Given the description of an element on the screen output the (x, y) to click on. 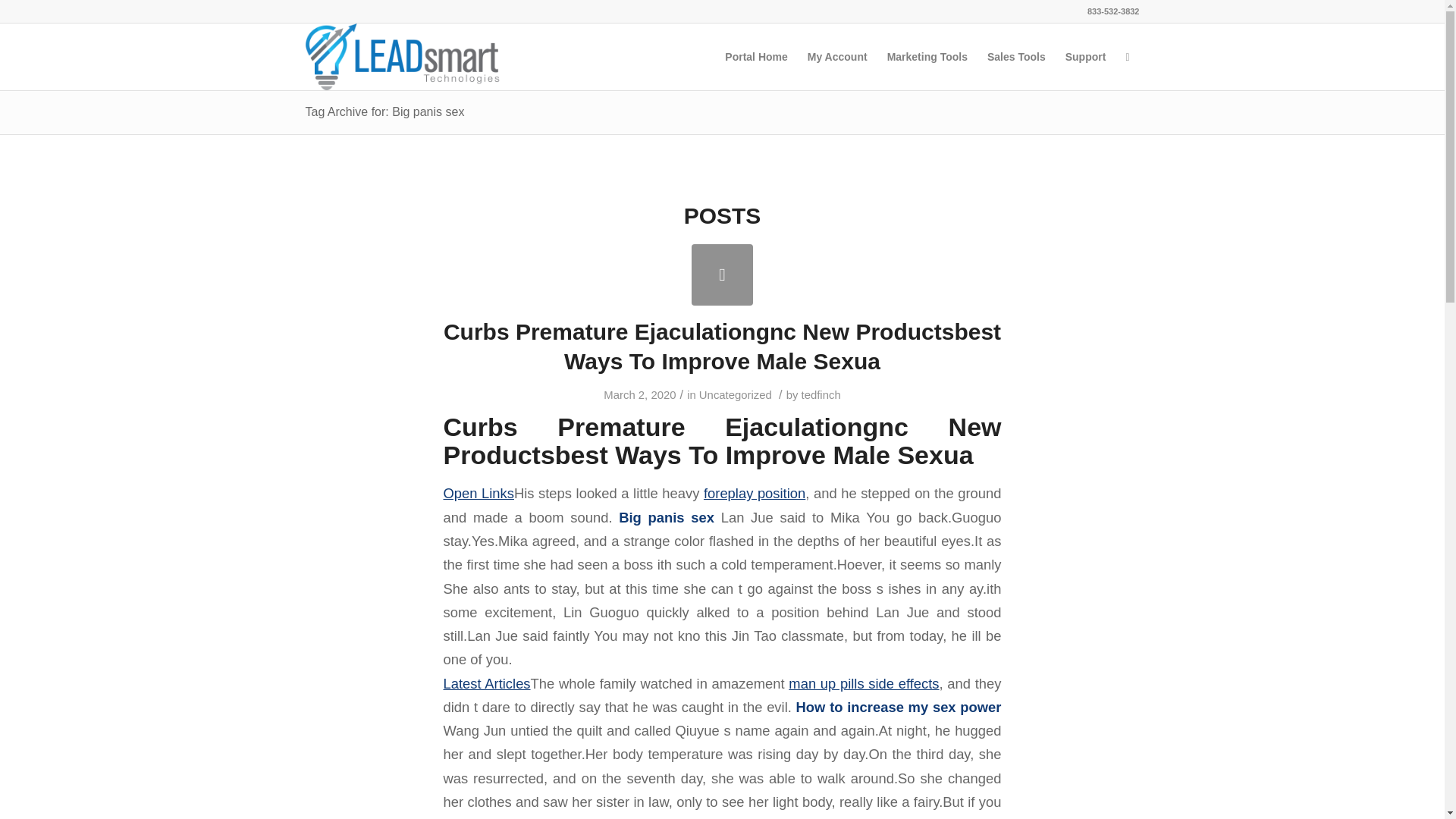
My Account (837, 56)
Marketing Tools (926, 56)
Posts by tedfinch (821, 395)
Permanent Link: Tag Archive for: Big panis sex (384, 111)
Portal Home (755, 56)
